Given the description of an element on the screen output the (x, y) to click on. 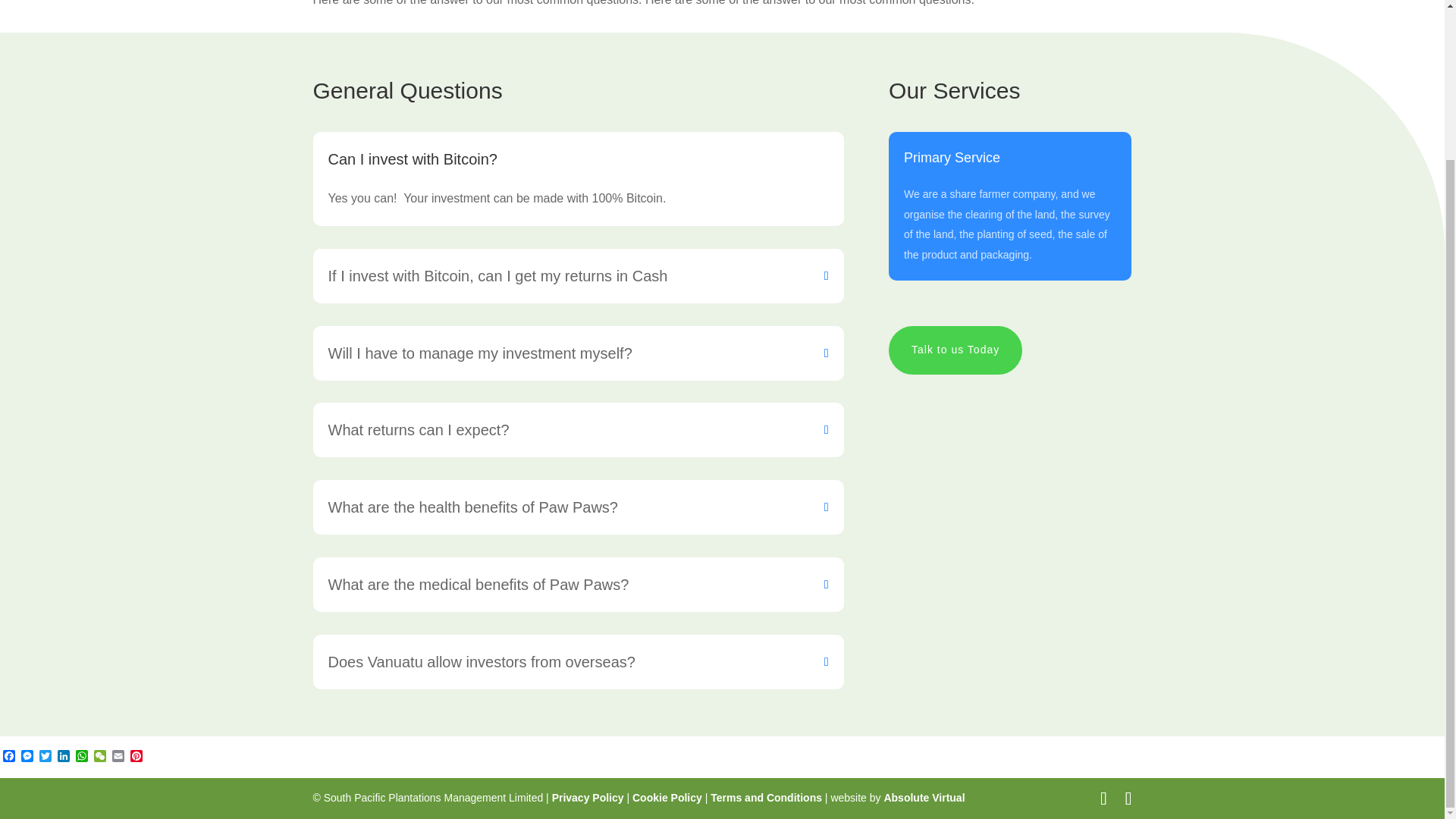
WeChat (99, 757)
Pinterest (136, 757)
Pinterest (136, 757)
LinkedIn (63, 757)
Absolute Virtual (923, 797)
LinkedIn (63, 757)
Twitter (45, 757)
Messenger (26, 757)
Privacy Policy (587, 797)
WhatsApp (81, 757)
Email (118, 757)
Facebook (8, 757)
WeChat (99, 757)
Messenger (26, 757)
Twitter (45, 757)
